Given the description of an element on the screen output the (x, y) to click on. 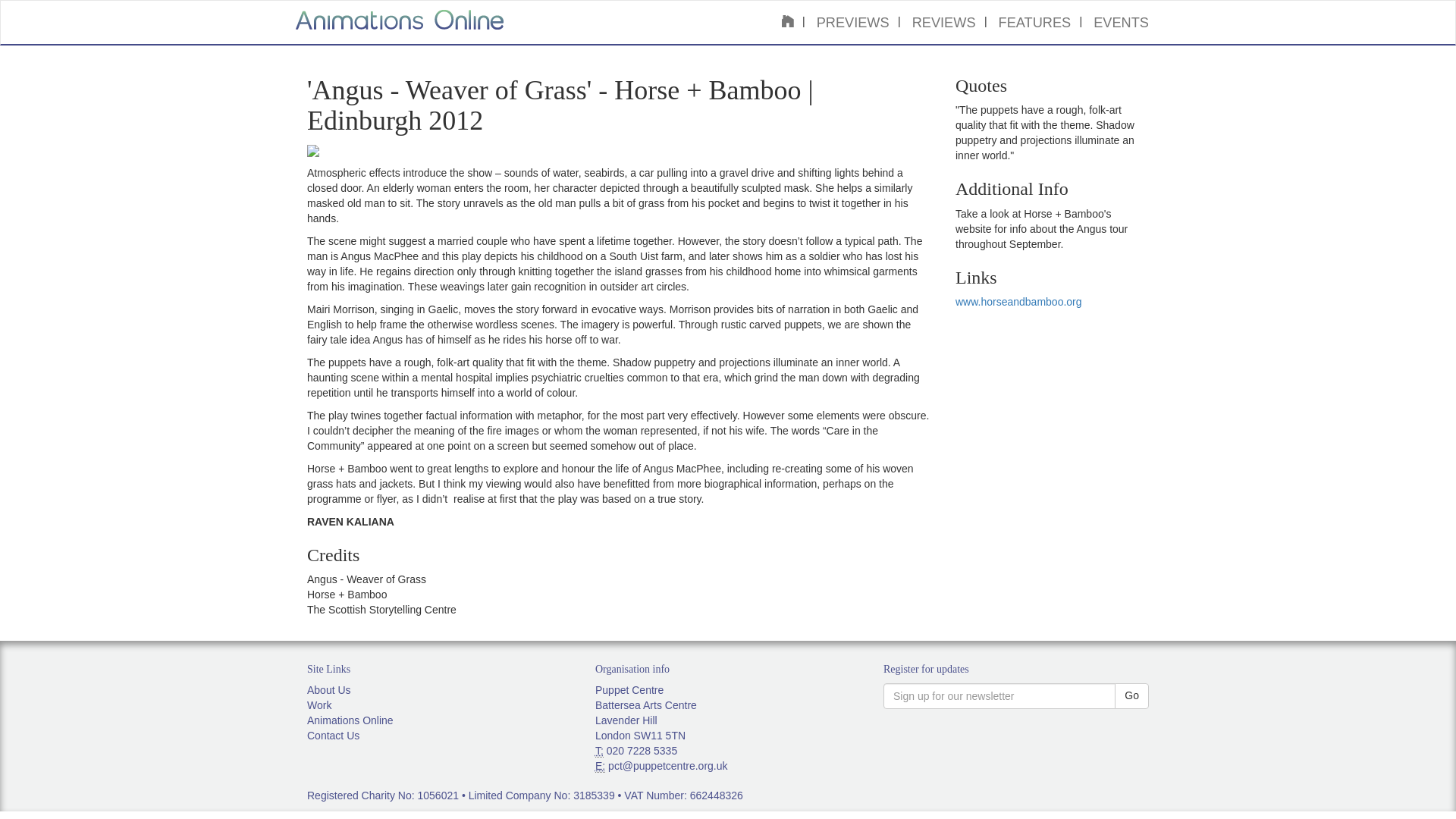
About Us (328, 689)
Go (1131, 696)
Animations Online (350, 720)
FEATURES (1035, 22)
PREVIEWS (853, 22)
www.horseandbamboo.org (1018, 301)
020 7228 5335 (642, 750)
Contact Us (333, 735)
Email (600, 766)
Telephone (599, 750)
Work (319, 705)
REVIEWS (944, 22)
EVENTS (1120, 22)
